Given the description of an element on the screen output the (x, y) to click on. 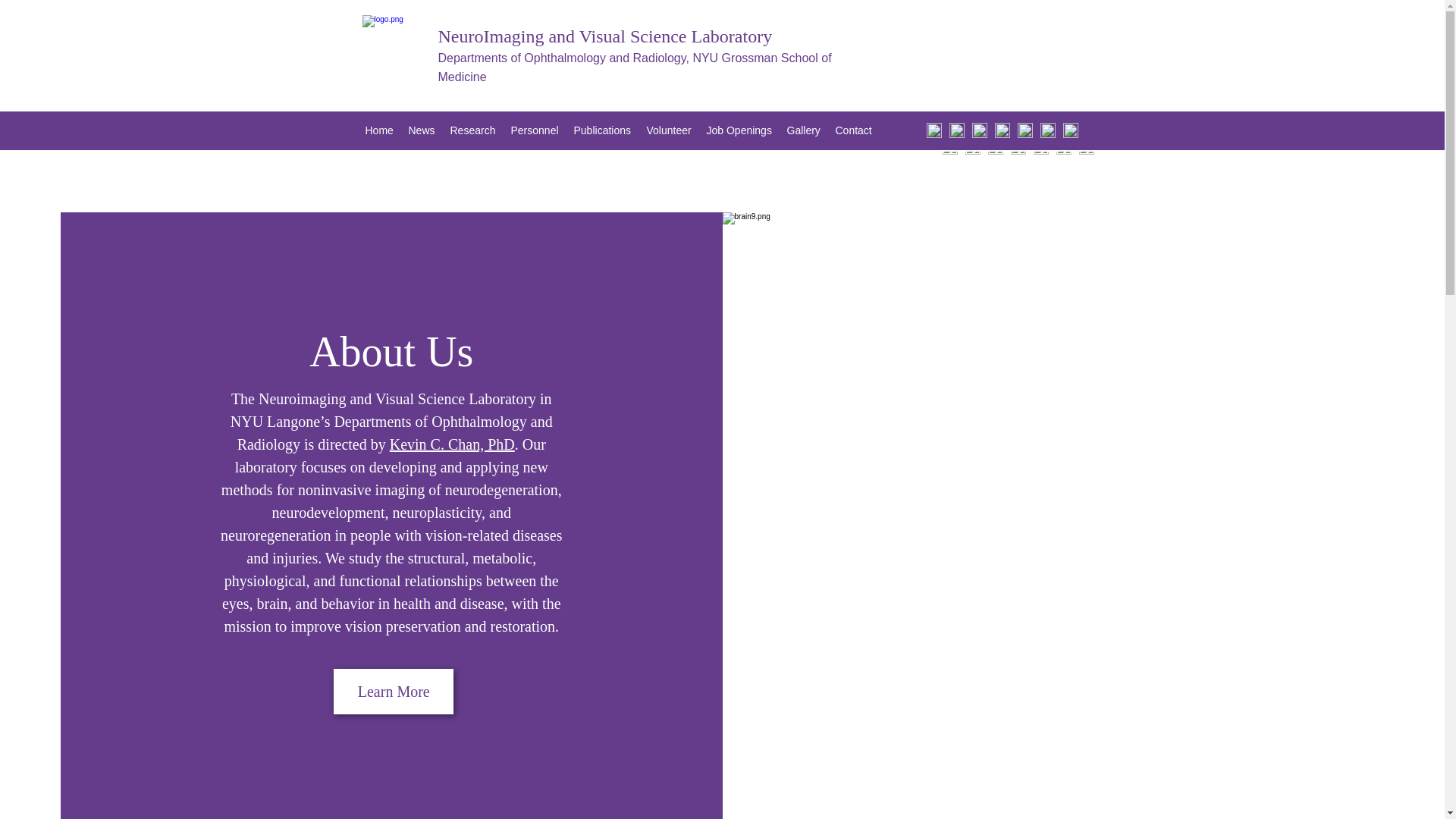
Job Openings (738, 130)
Learn More (392, 691)
Kevin C. Chan, PhD (452, 443)
Home (379, 130)
Research (472, 130)
Personnel (534, 130)
Gallery (803, 130)
Volunteer (668, 130)
Contact (853, 130)
News (421, 130)
